Given the description of an element on the screen output the (x, y) to click on. 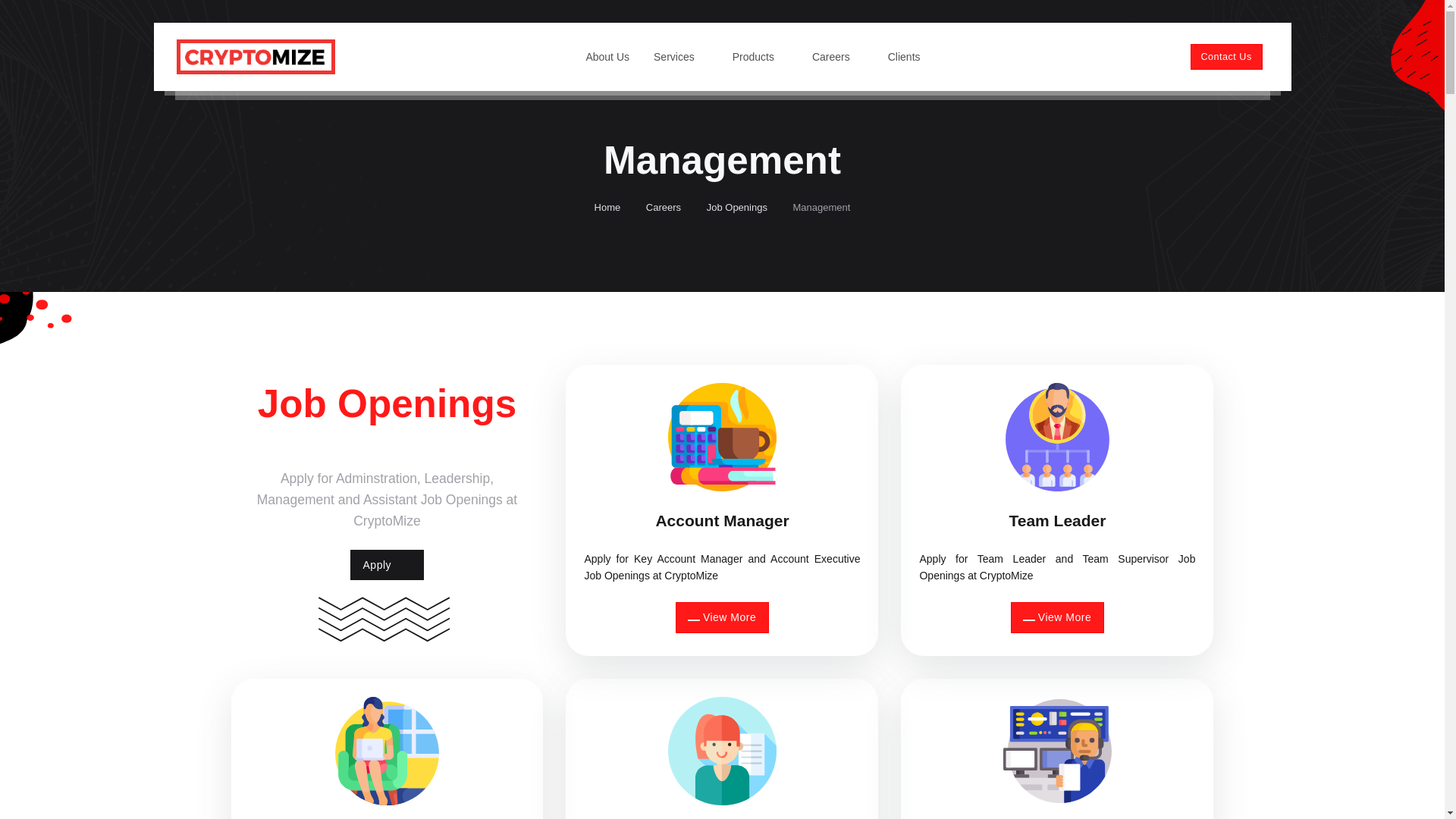
About Us (607, 56)
